Given the description of an element on the screen output the (x, y) to click on. 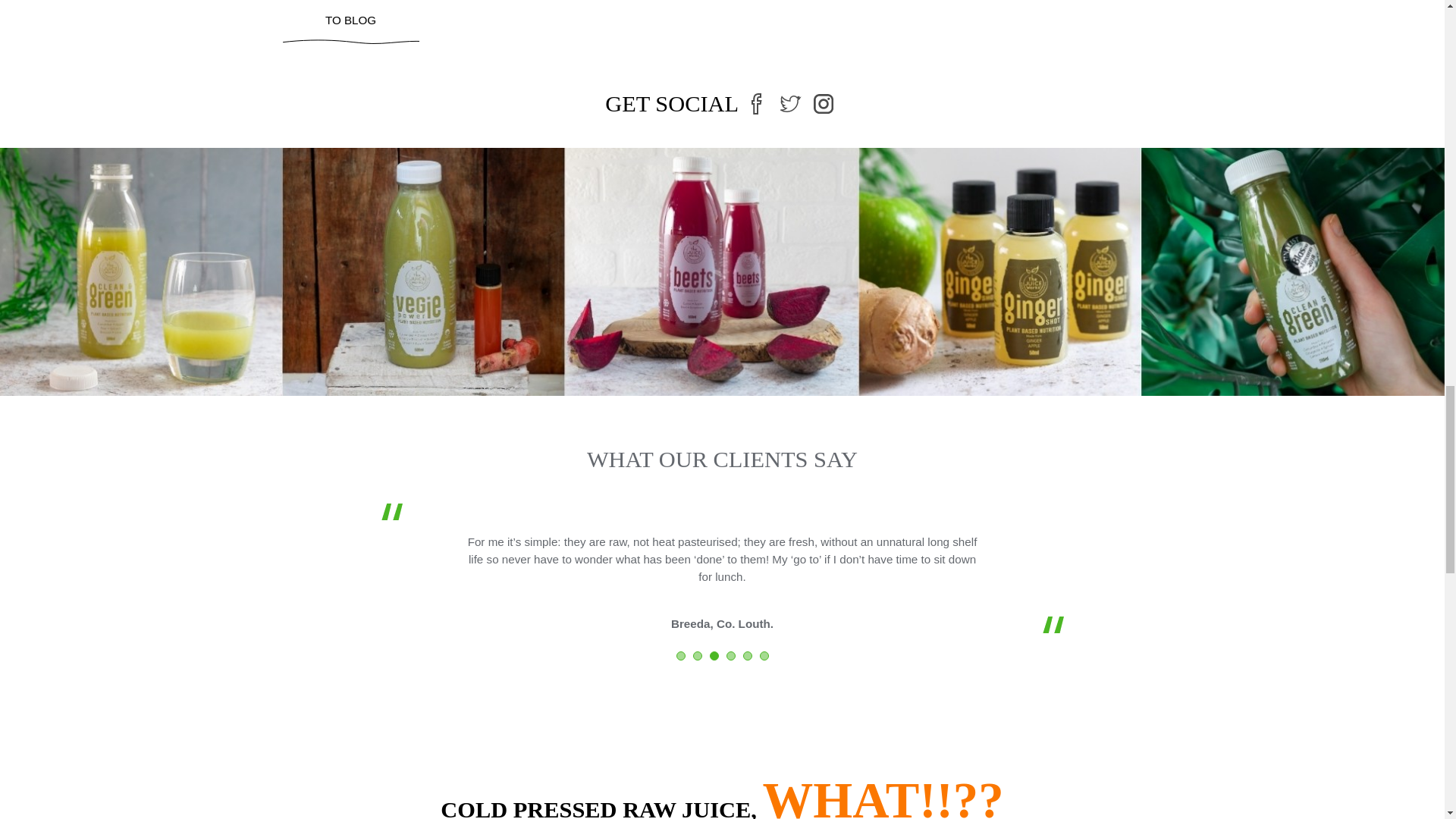
Go Back to Blog (350, 22)
TO BLOG (350, 22)
2 (697, 655)
ins (824, 103)
5 (747, 655)
1 (681, 655)
4 (730, 655)
6 (764, 655)
fb (756, 103)
tw (791, 103)
3 (714, 655)
